Given the description of an element on the screen output the (x, y) to click on. 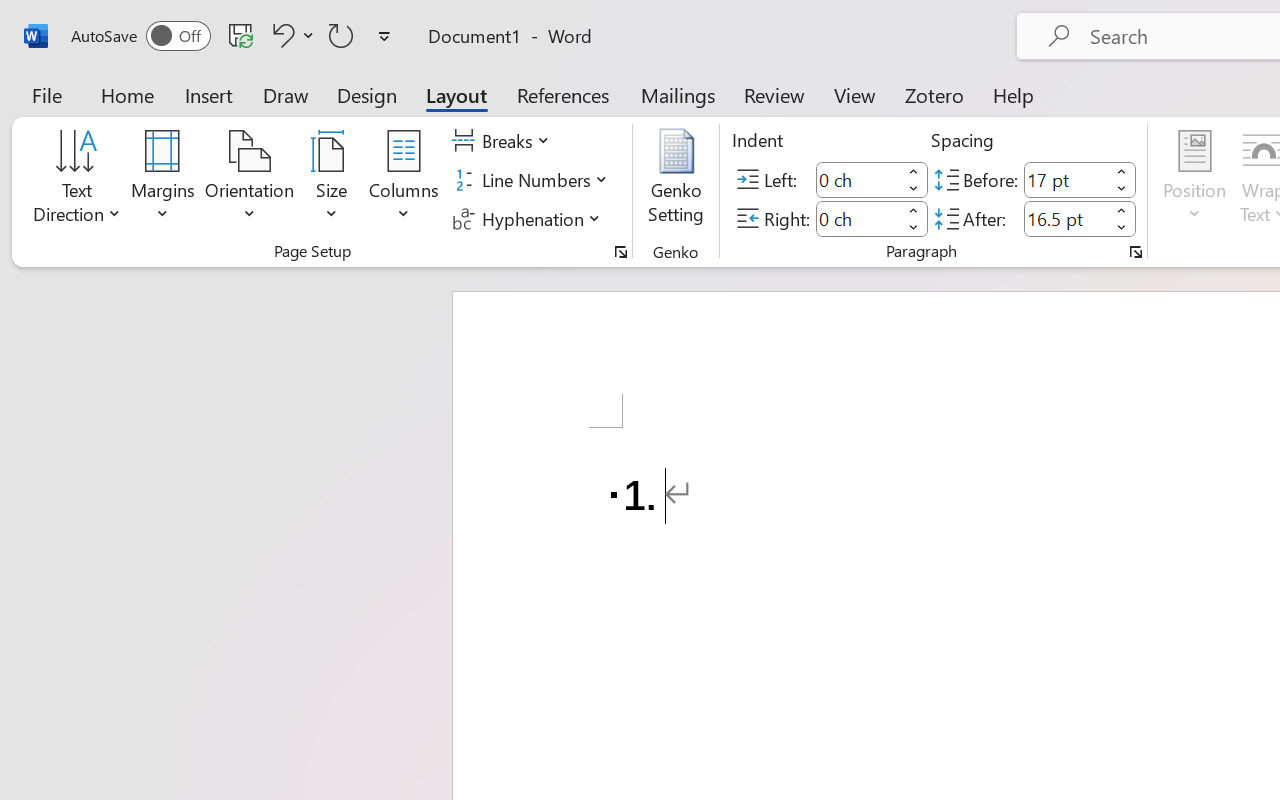
Genko Setting... (676, 179)
Line Numbers (532, 179)
Undo Number Default (280, 35)
Page Setup... (621, 252)
More (1121, 210)
Less (1121, 227)
Indent Left (858, 179)
Spacing Before (1066, 179)
